Given the description of an element on the screen output the (x, y) to click on. 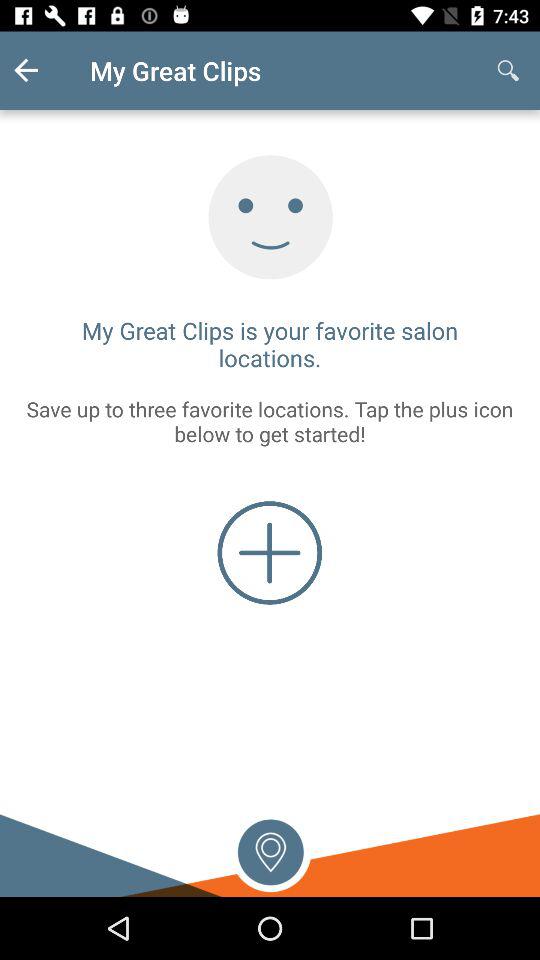
add a favorite location (269, 552)
